Given the description of an element on the screen output the (x, y) to click on. 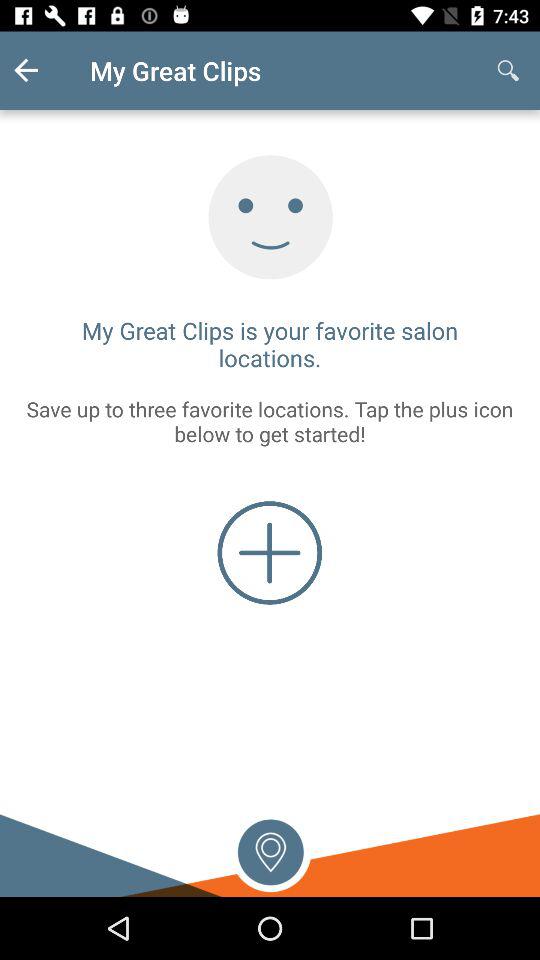
add a favorite location (269, 552)
